Given the description of an element on the screen output the (x, y) to click on. 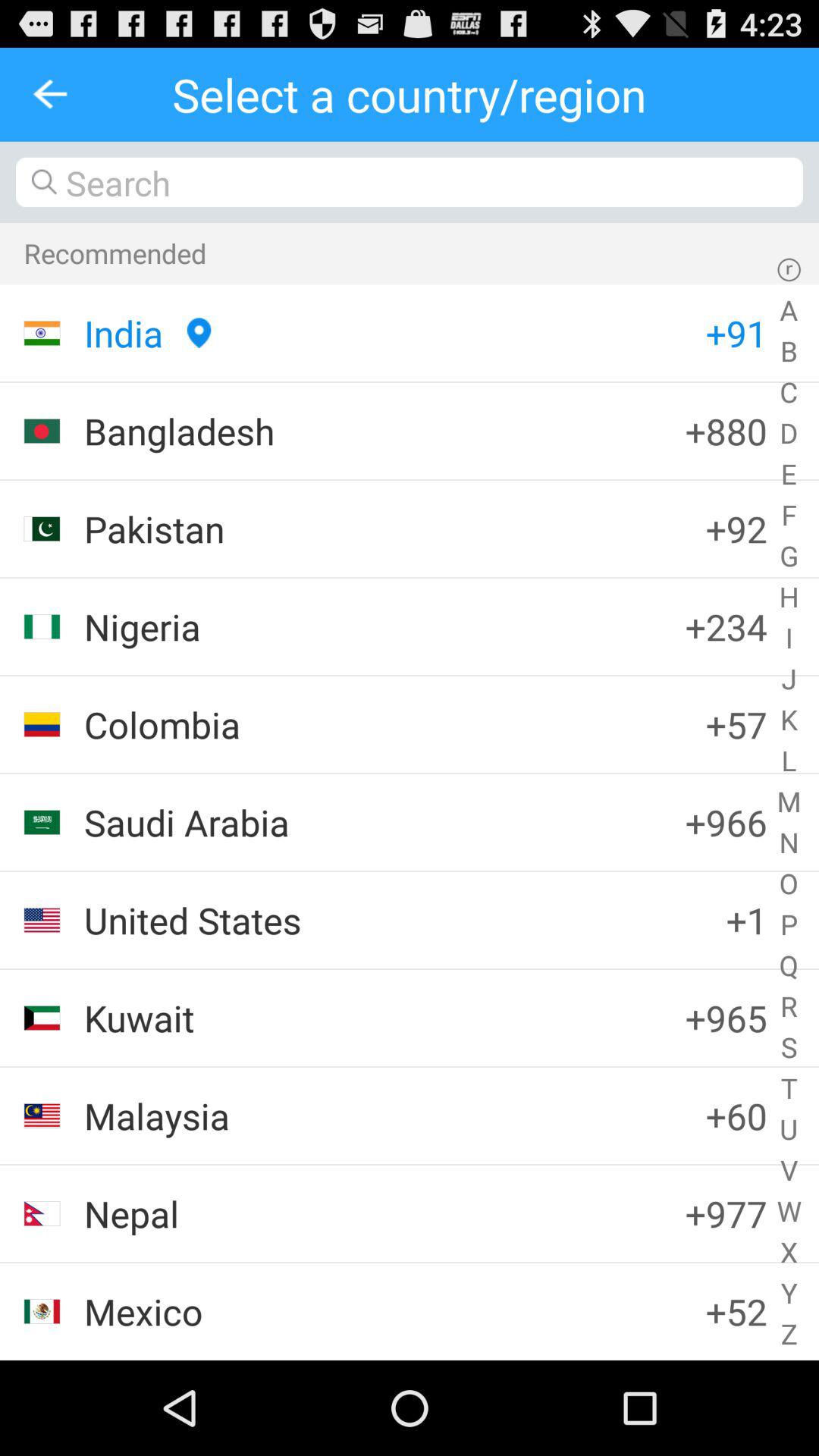
click the search option (409, 182)
